Given the description of an element on the screen output the (x, y) to click on. 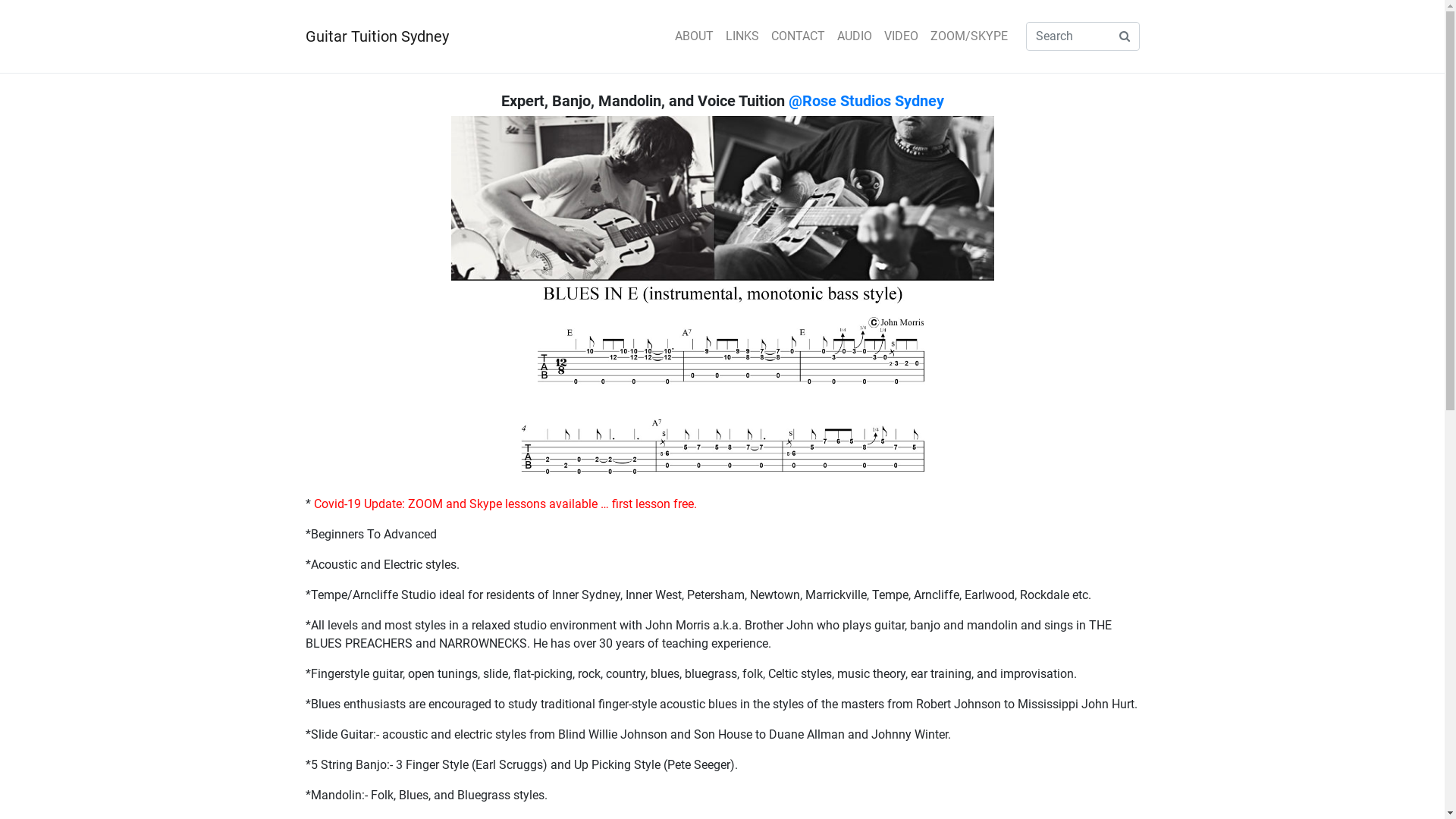
VIDEO Element type: text (901, 36)
ABOUT Element type: text (693, 36)
ZOOM/SKYPE Element type: text (968, 36)
Guitar Tuition Sydney Element type: text (376, 36)
@Rose Studios Sydney Element type: text (866, 100)
CONTACT Element type: text (797, 36)
LINKS Element type: text (741, 36)
AUDIO Element type: text (854, 36)
